Given the description of an element on the screen output the (x, y) to click on. 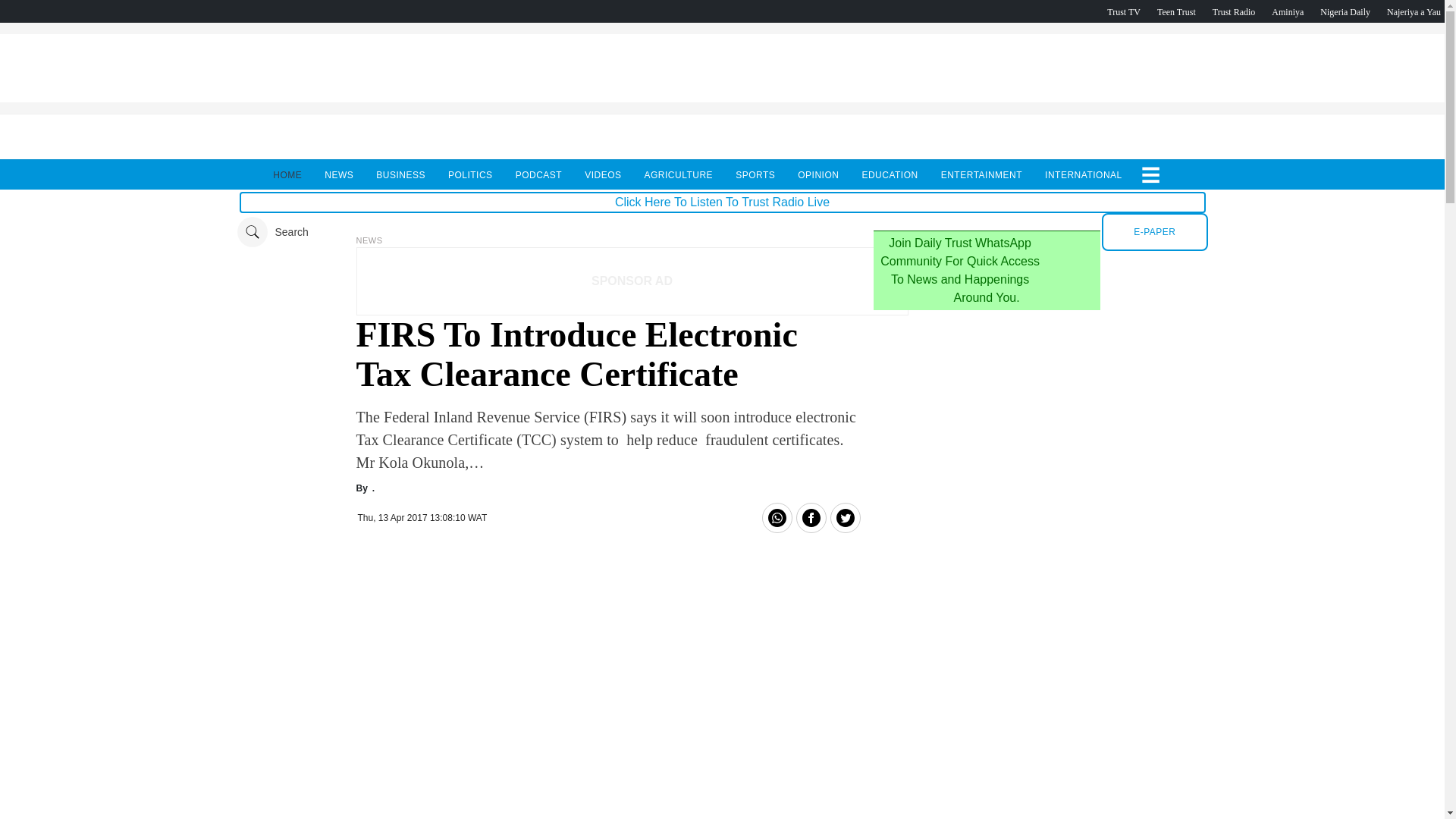
News (369, 239)
Teen Trust (1176, 11)
Trust TV Live (1123, 11)
Teen Trust (1176, 11)
HOME (287, 174)
Trust Radio (1233, 11)
Saurari Shirye Shiryenmu (1414, 11)
Najeriya a Yau (1414, 11)
Nigeria Daily (1345, 11)
Aminiya (1287, 11)
